Given the description of an element on the screen output the (x, y) to click on. 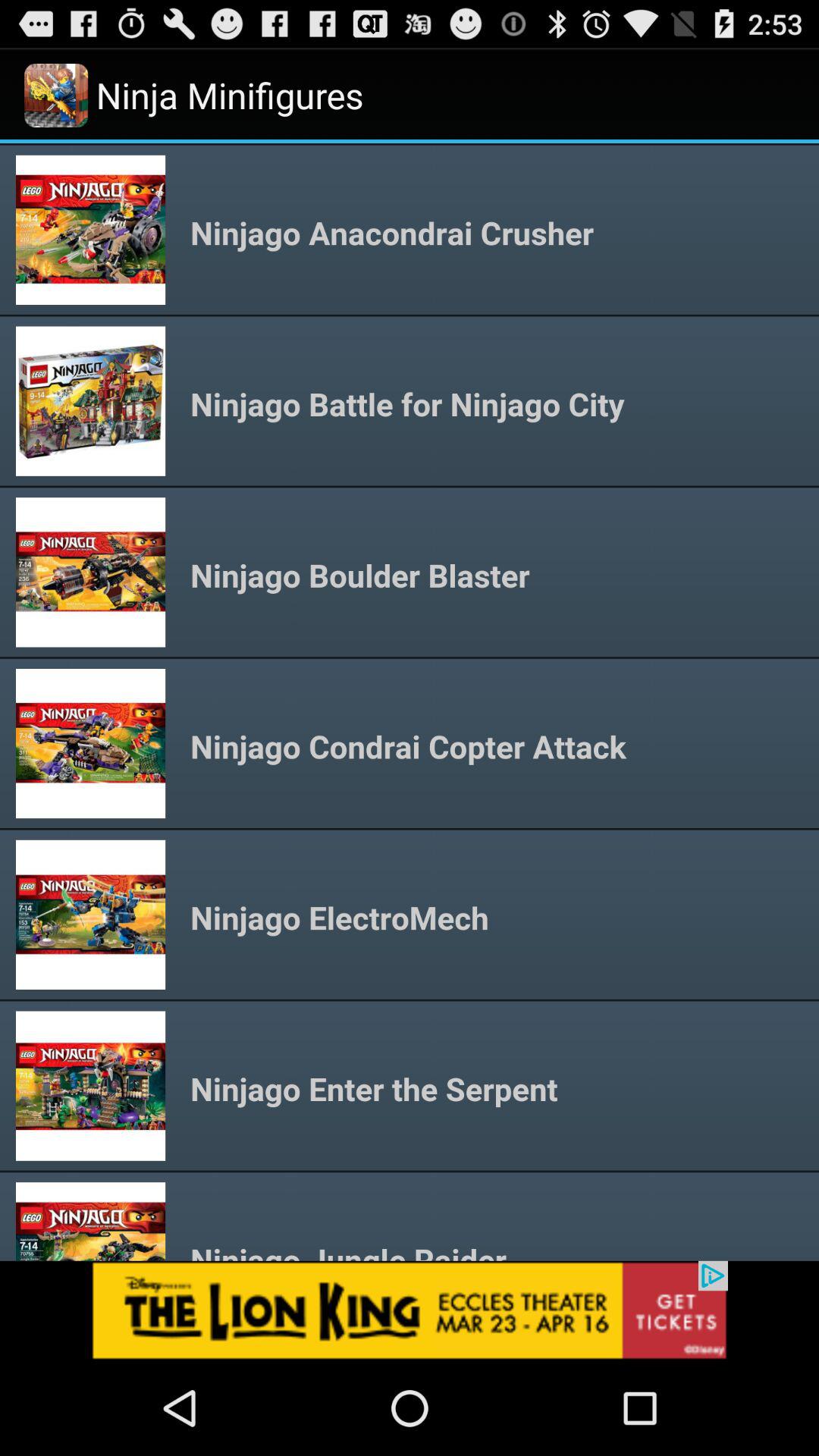
content area (409, 701)
